Given the description of an element on the screen output the (x, y) to click on. 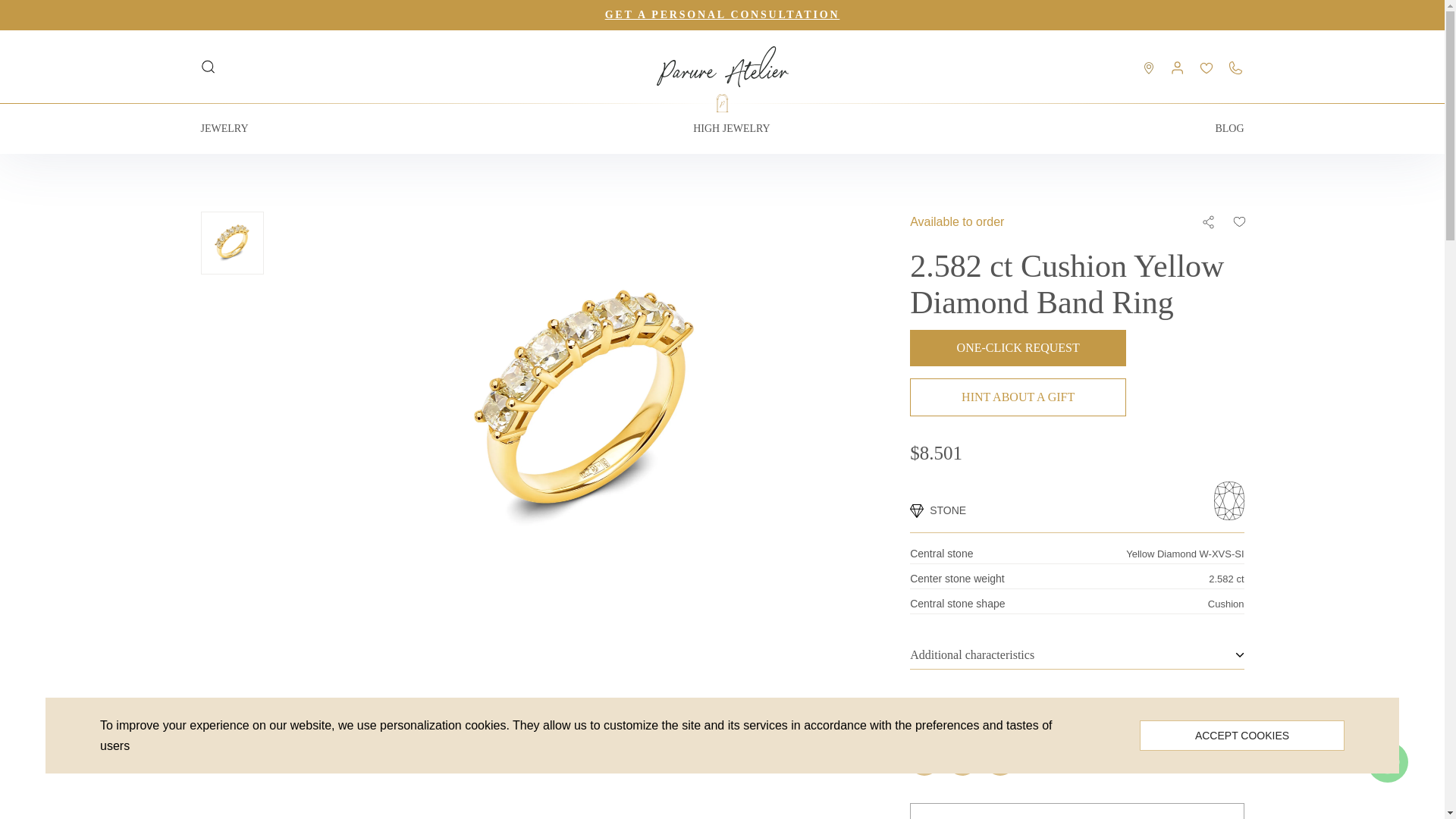
BLOG (1228, 128)
HIGH JEWELRY (731, 128)
JEWELRY (223, 128)
